Given the description of an element on the screen output the (x, y) to click on. 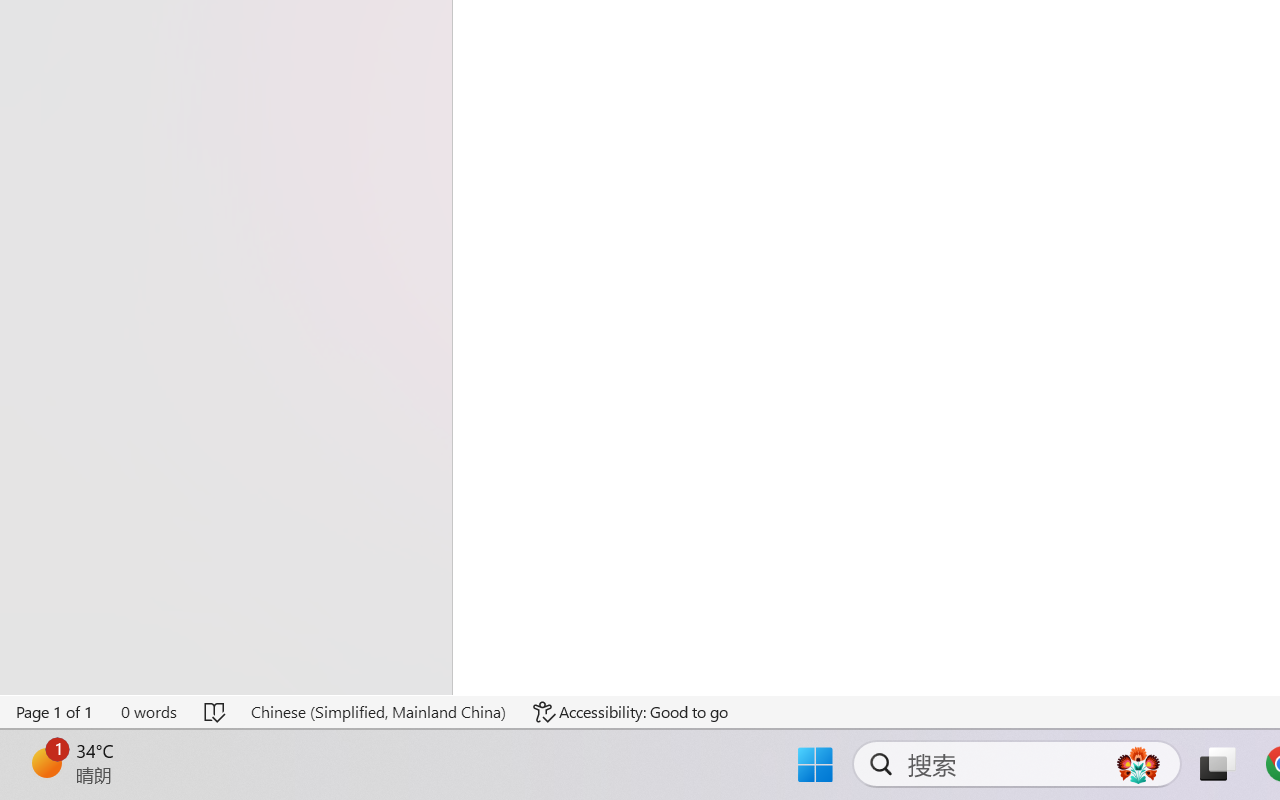
Language Chinese (Simplified, Mainland China) (378, 712)
